Given the description of an element on the screen output the (x, y) to click on. 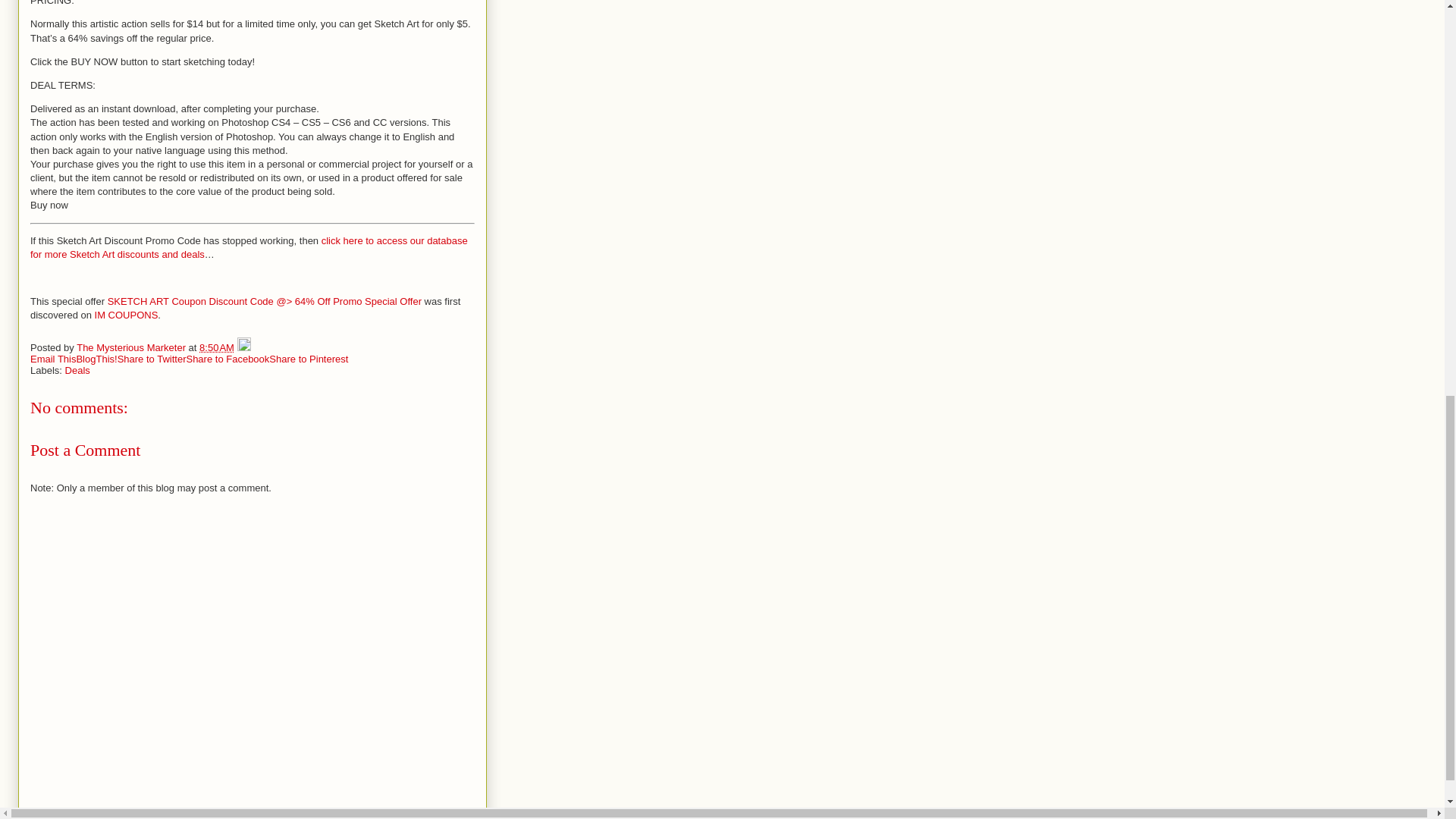
Share to Pinterest (308, 358)
Edit Post (243, 347)
BlogThis! (95, 358)
Deals (77, 369)
IM COUPONS (126, 315)
permanent link (216, 347)
Share to Facebook (227, 358)
Share to Twitter (151, 358)
Share to Pinterest (308, 358)
Email This (52, 358)
Share to Facebook (227, 358)
Share to Twitter (151, 358)
author profile (132, 347)
The Mysterious Marketer (132, 347)
